Given the description of an element on the screen output the (x, y) to click on. 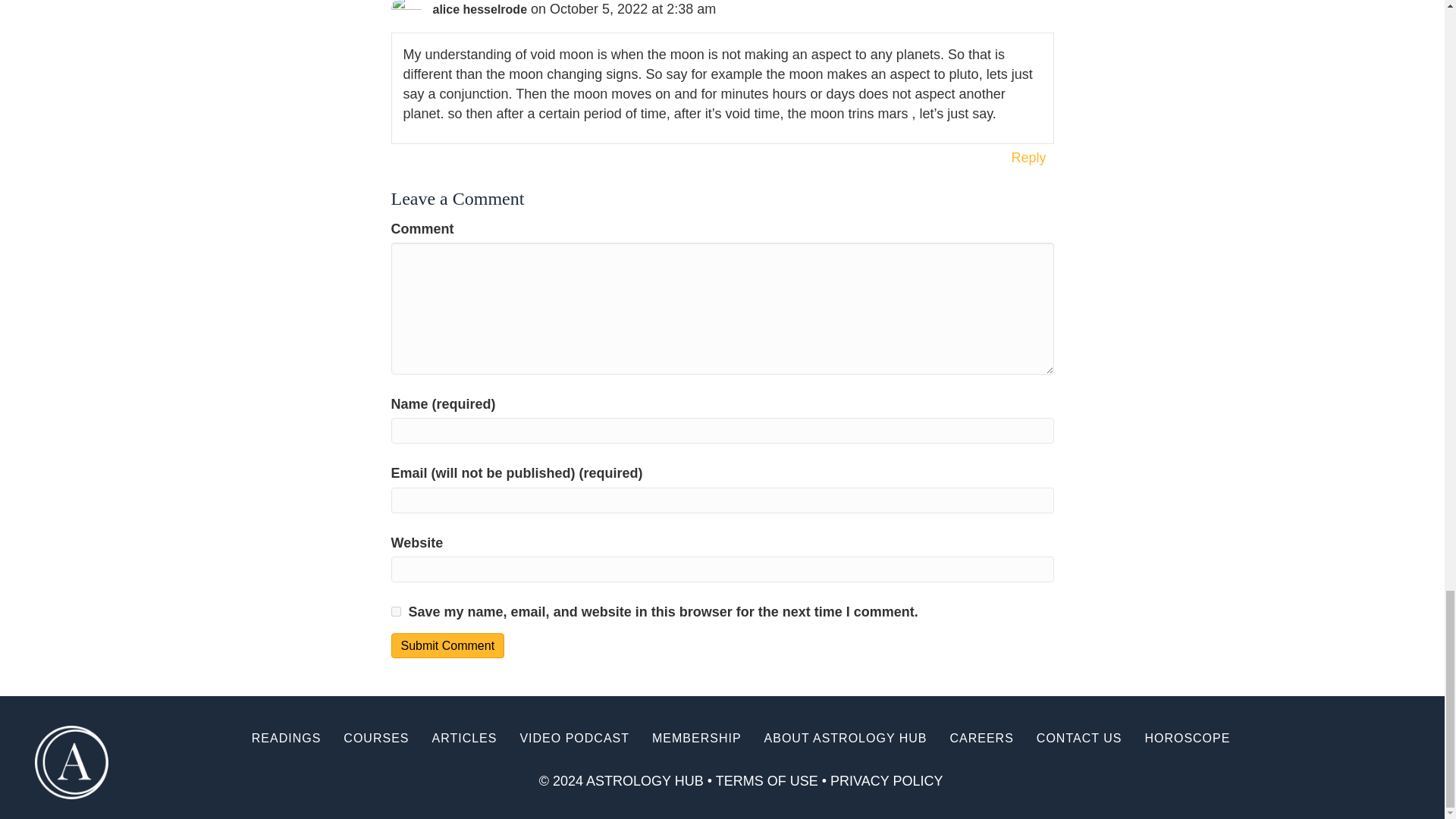
yes (396, 611)
Submit Comment (448, 645)
